Given the description of an element on the screen output the (x, y) to click on. 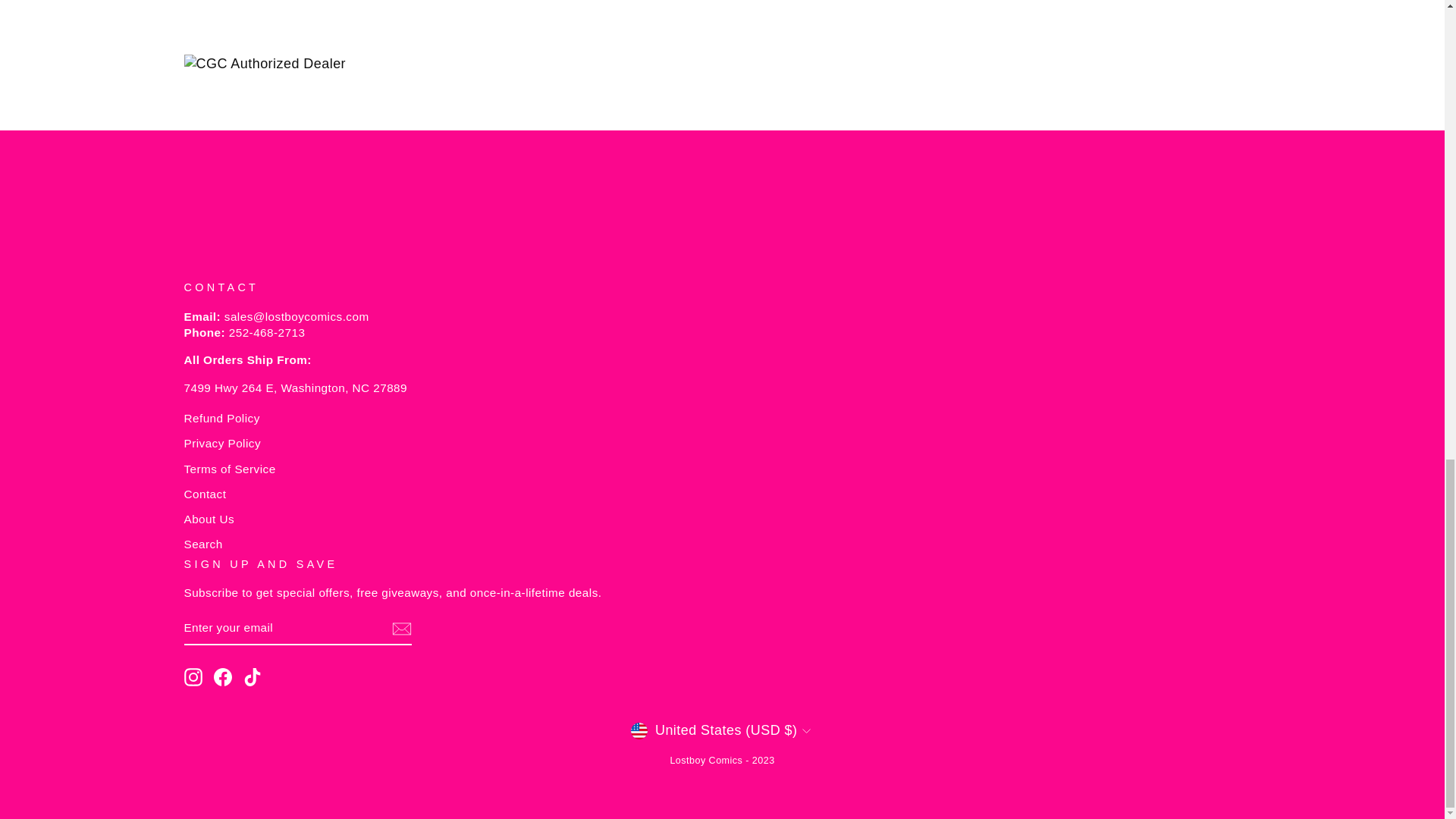
Lostboy Comics on Facebook (222, 677)
Lostboy Comics on Instagram (192, 677)
icon-email (400, 628)
instagram (192, 677)
CGC Authorized Dealer (721, 63)
Lostboy Comics on TikTok (251, 677)
